Given the description of an element on the screen output the (x, y) to click on. 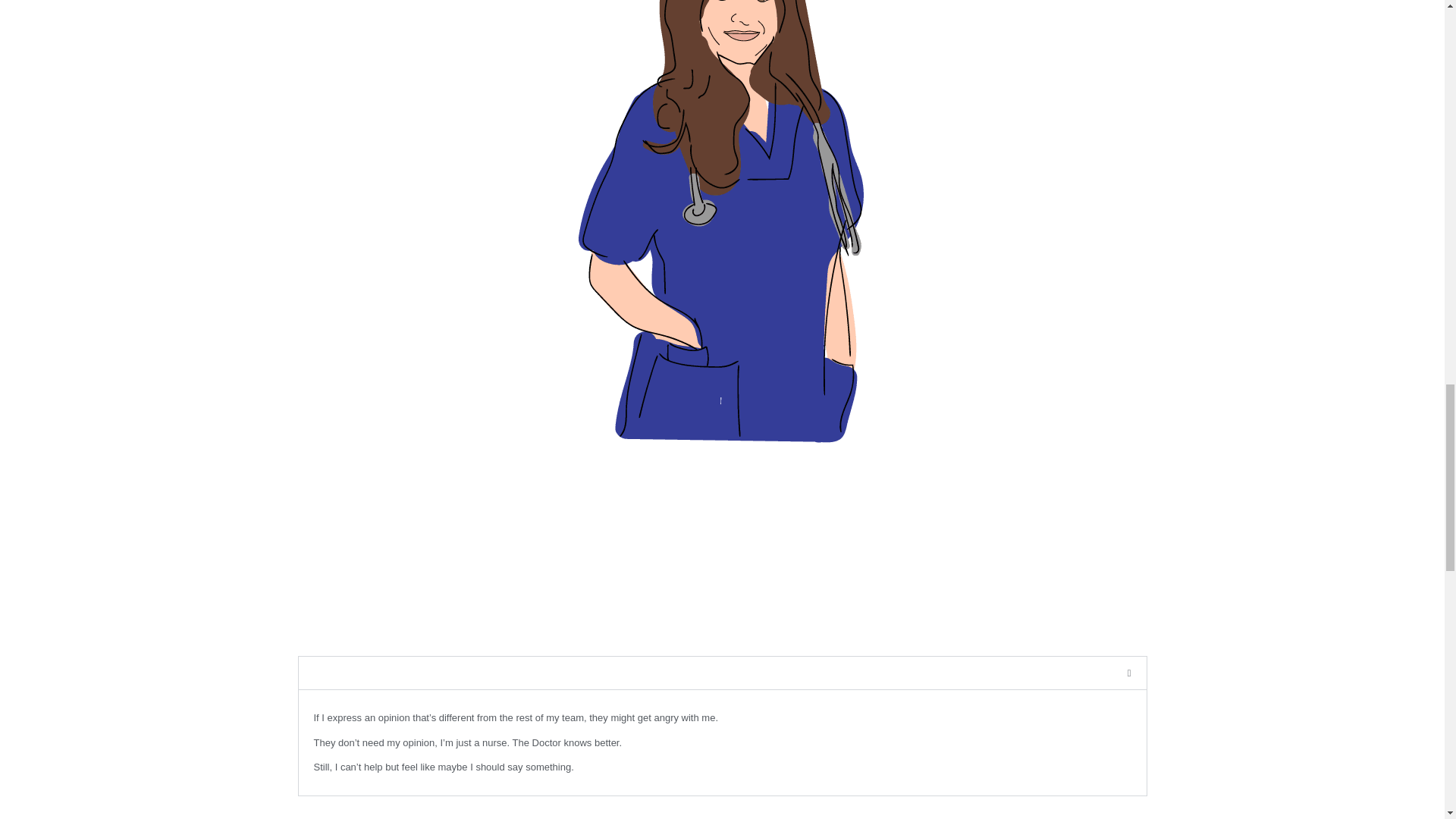
Audio Transcript (352, 672)
